Given the description of an element on the screen output the (x, y) to click on. 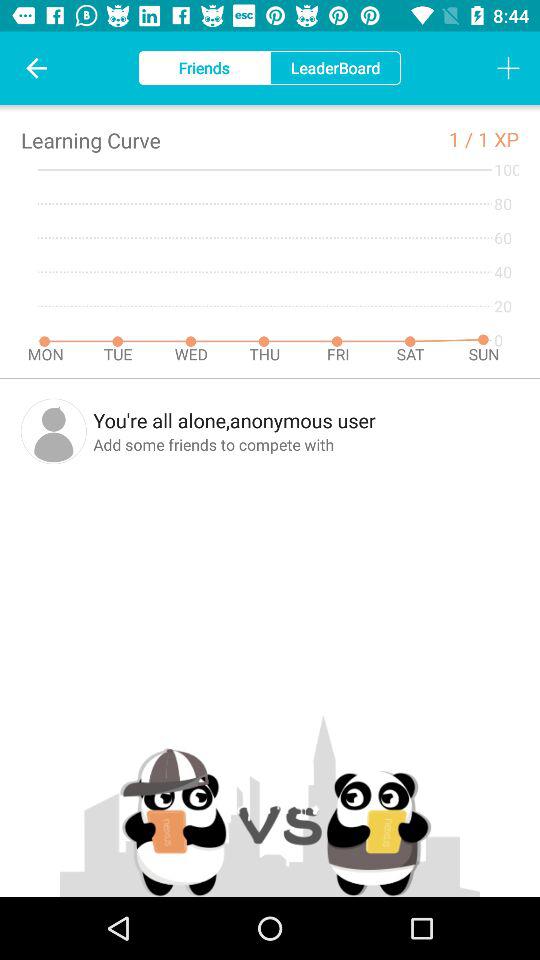
launch 1 xp icon (498, 138)
